Given the description of an element on the screen output the (x, y) to click on. 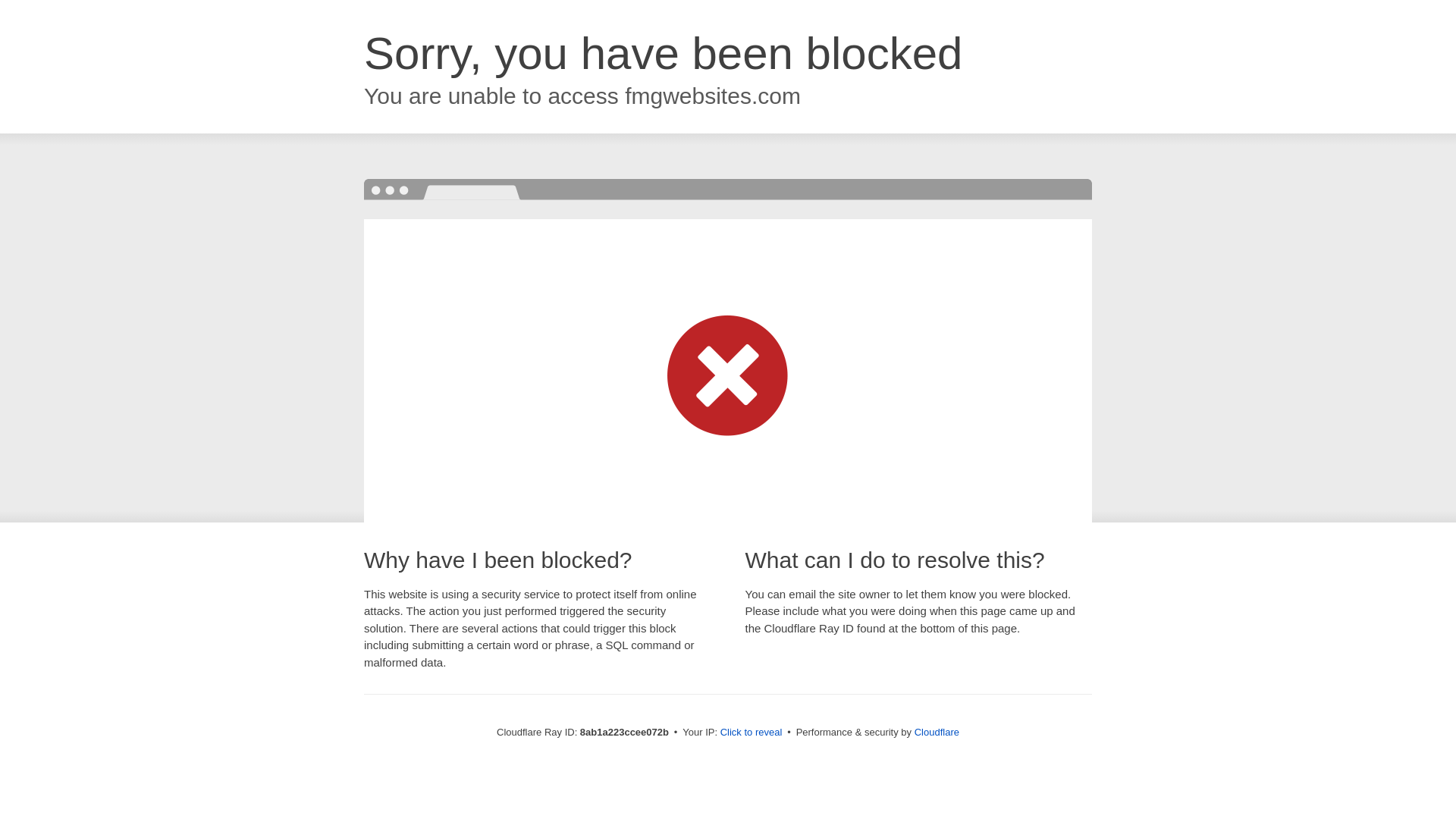
Cloudflare (936, 731)
Click to reveal (751, 732)
